Given the description of an element on the screen output the (x, y) to click on. 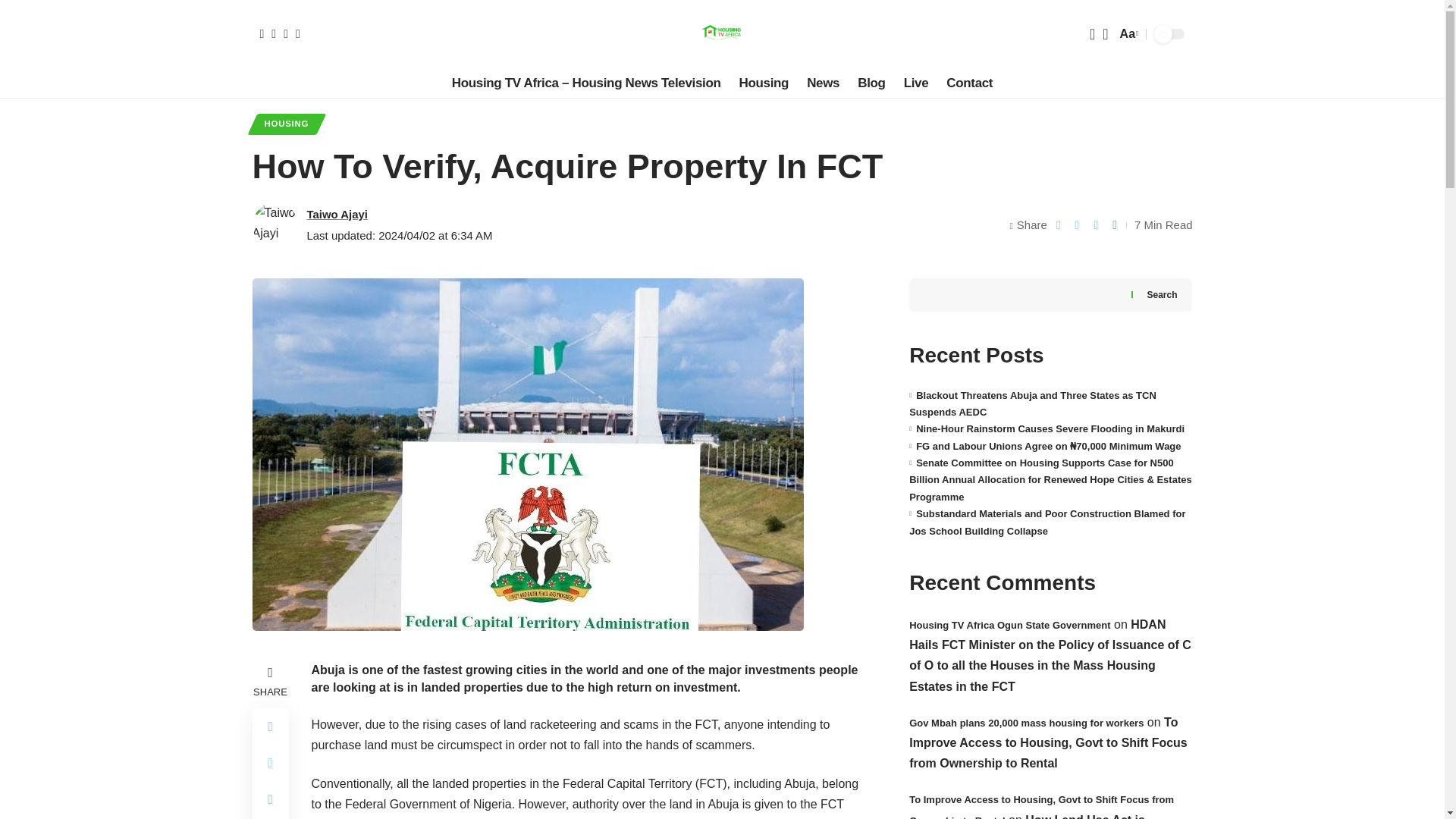
Aa (1127, 33)
HOUSING (285, 124)
Taiwo Ajayi (336, 213)
Housing (763, 82)
Live (916, 82)
News (822, 82)
Blog (870, 82)
Contact (969, 82)
Housing TV Africa (721, 33)
